Given the description of an element on the screen output the (x, y) to click on. 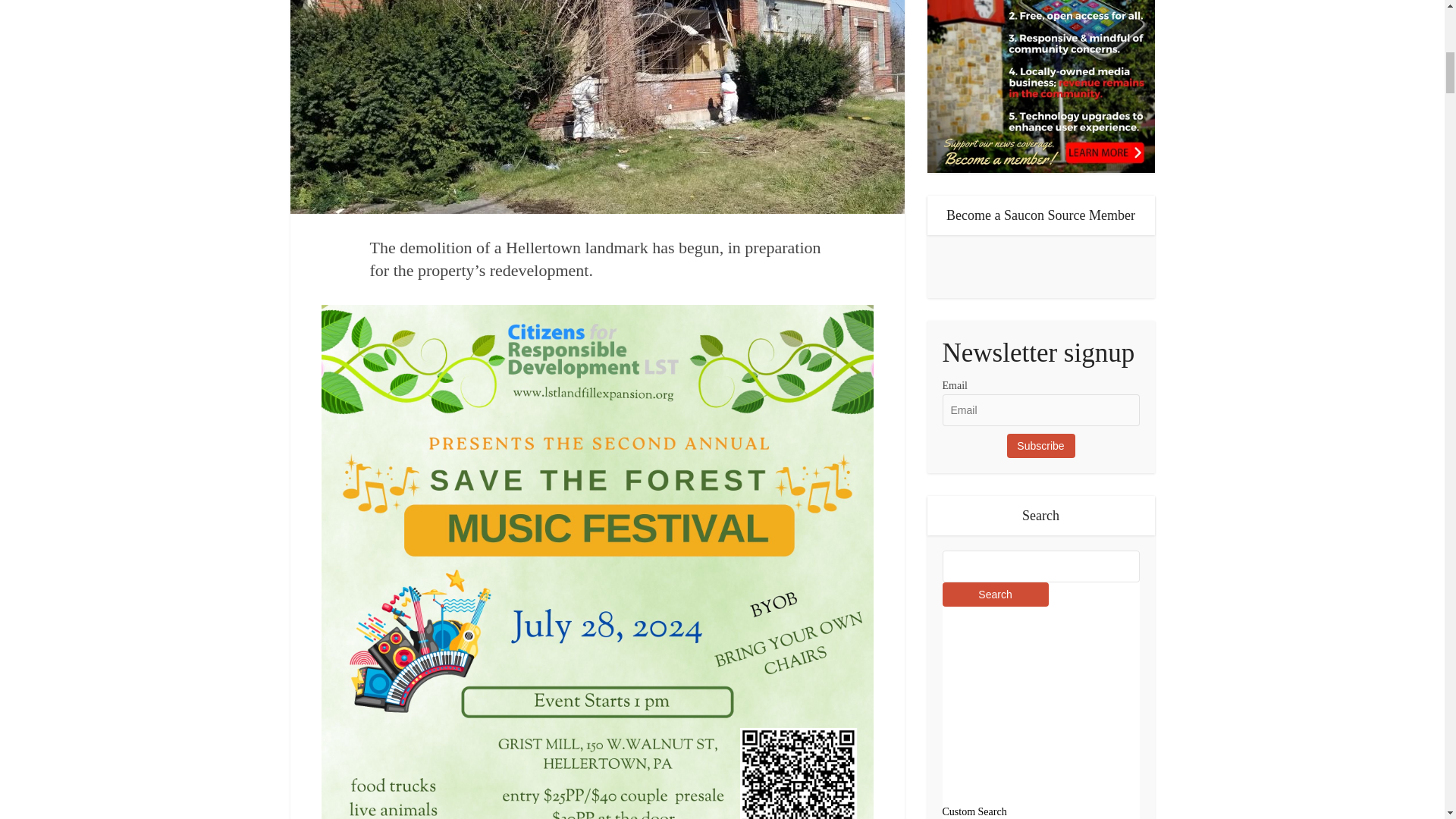
Search (995, 594)
